Given the description of an element on the screen output the (x, y) to click on. 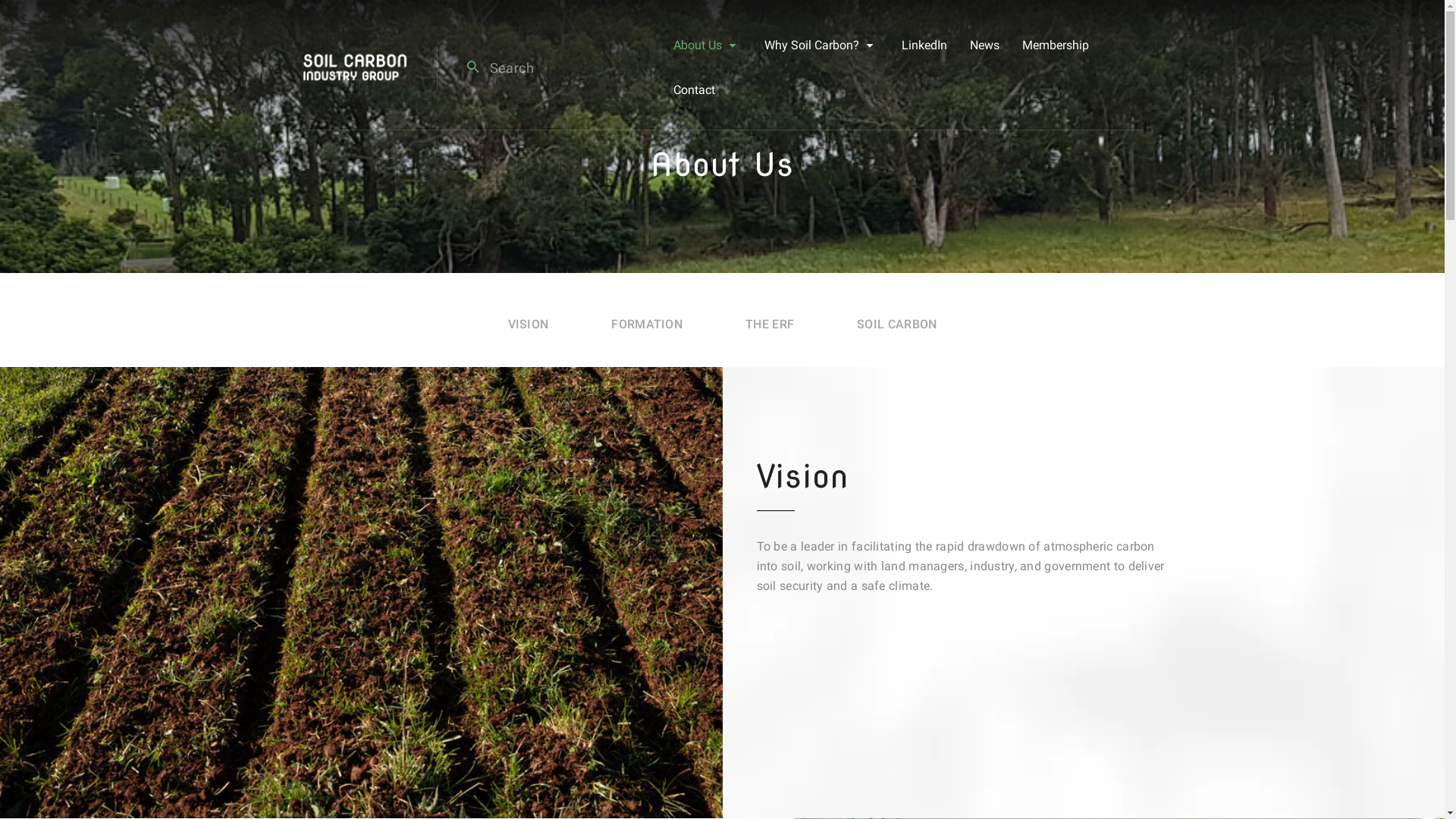
LinkedIn Element type: text (923, 44)
Membership Element type: text (1055, 44)
News Element type: text (983, 44)
About Us Element type: text (697, 44)
Why Soil Carbon? Element type: text (811, 44)
Contact Element type: text (694, 89)
